Given the description of an element on the screen output the (x, y) to click on. 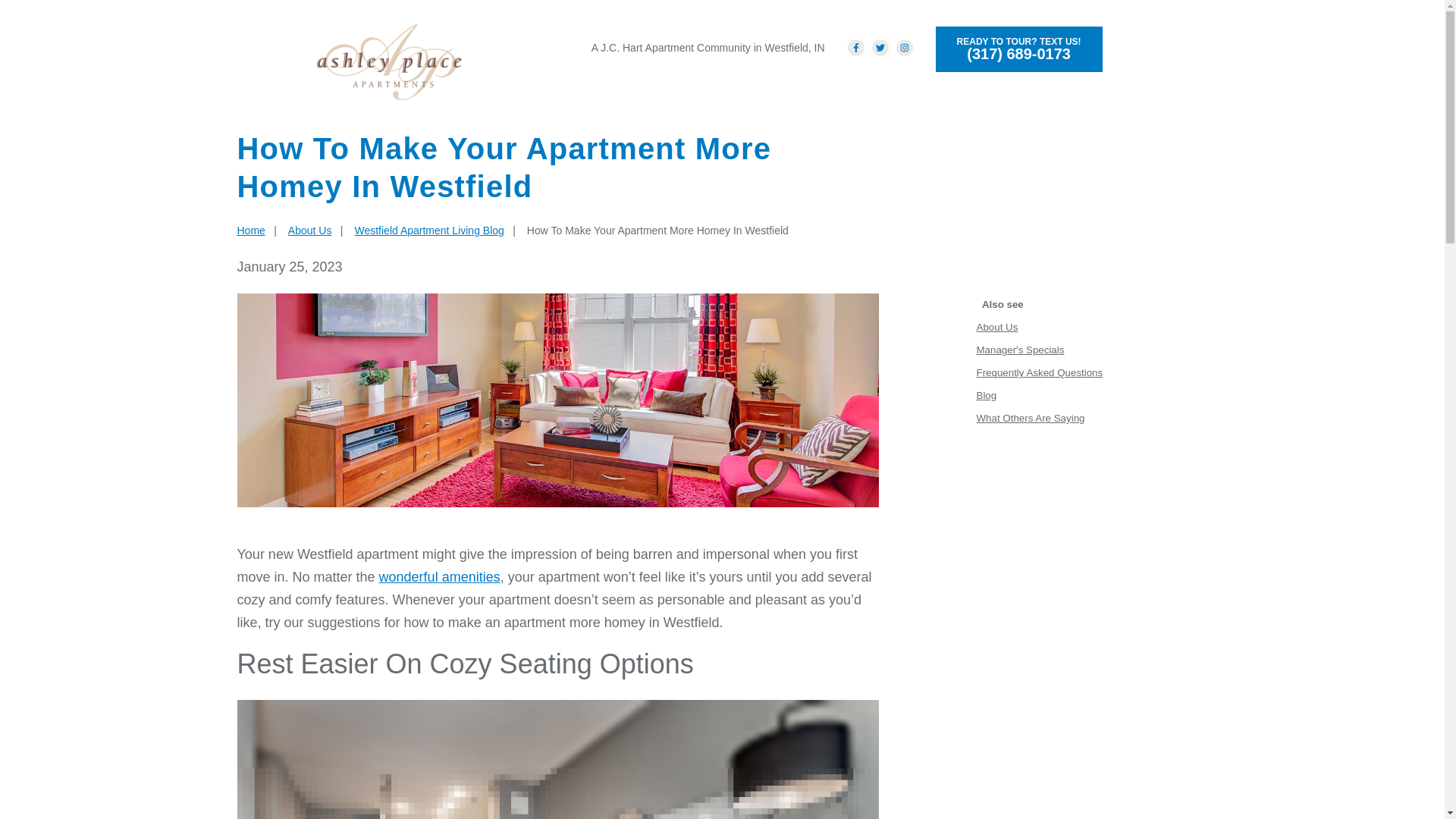
Home (249, 230)
About Us (996, 326)
Follow us on Twitter (880, 47)
GALLERY (909, 89)
Westfield Apartment Living Blog (428, 230)
Ashley Place Apartments Home (389, 61)
About Us (309, 230)
RESIDENTS (989, 89)
AMENITIES (730, 89)
